Given the description of an element on the screen output the (x, y) to click on. 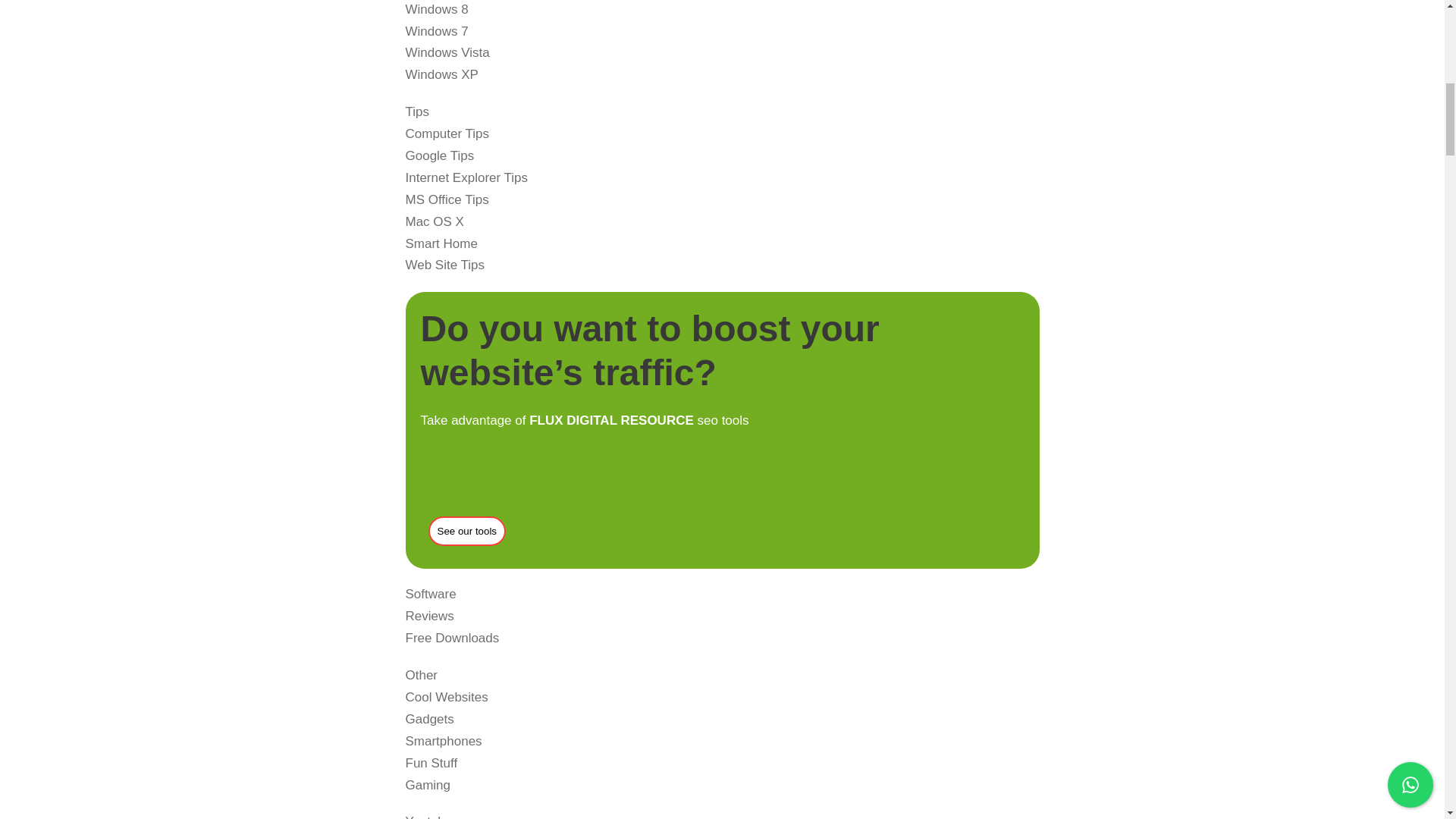
See our tools (466, 531)
See our tools (466, 530)
FLUX DIGITAL RESOURCE INTRODUCTORY VIDEO (598, 490)
